Given the description of an element on the screen output the (x, y) to click on. 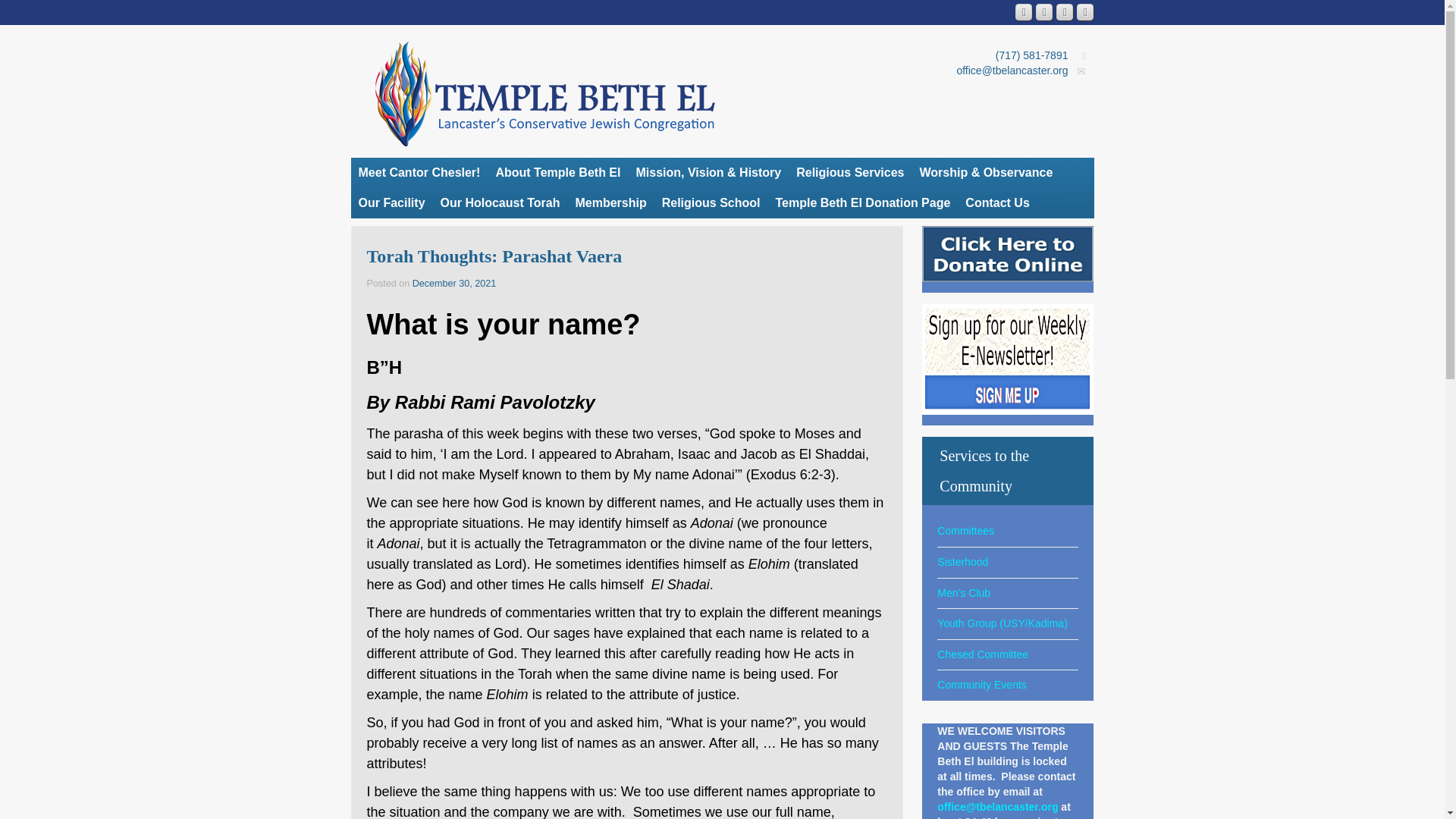
Religious Services (850, 173)
Our Holocaust Torah (499, 203)
Sisterhood (962, 562)
Beth El of Lancaster Email (1023, 12)
Contact Us (997, 203)
About Temple Beth El (557, 173)
Community Events (981, 684)
Meet Cantor Chesler! (418, 173)
Beth El of Lancaster Facebook (1065, 12)
Religious School (710, 203)
Temple Beth El Donation Page (863, 203)
Chesed Committee (982, 654)
8:18 am (454, 283)
Beth El of Lancaster Twitter (1085, 12)
Committees (965, 530)
